Given the description of an element on the screen output the (x, y) to click on. 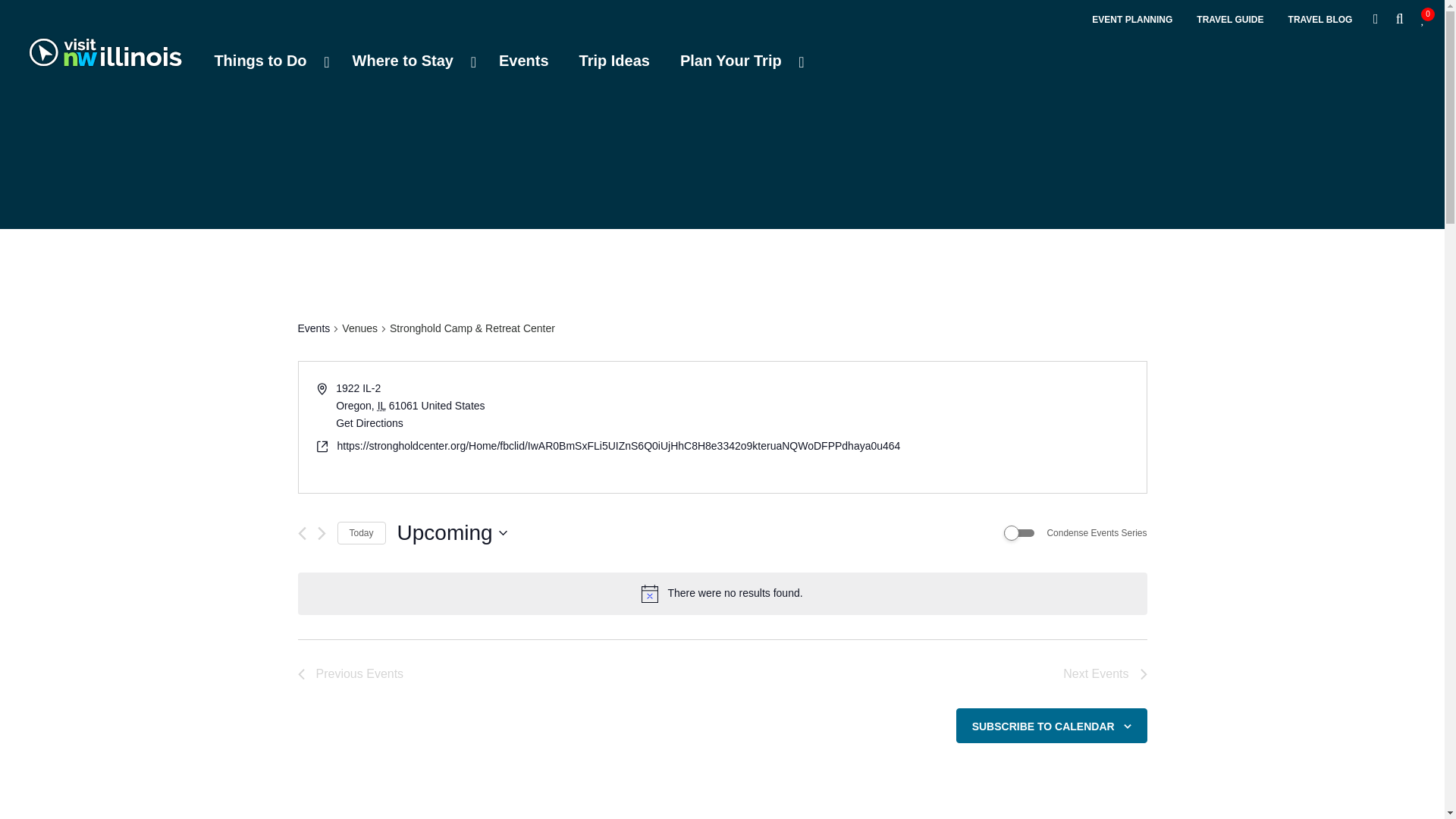
Click to toggle datepicker (451, 532)
Where to Stay (410, 60)
Previous Events (350, 673)
Events (523, 60)
TRAVEL GUIDE (1229, 20)
Trip Ideas (614, 60)
EVENT PLANNING (721, 16)
on (1132, 20)
TRAVEL BLOG (1018, 533)
Next Events (1320, 20)
Things to Do (1104, 673)
Plan Your Trip (267, 60)
Blackhawk Waterways CVB (738, 60)
Click to select today's date (105, 64)
